Given the description of an element on the screen output the (x, y) to click on. 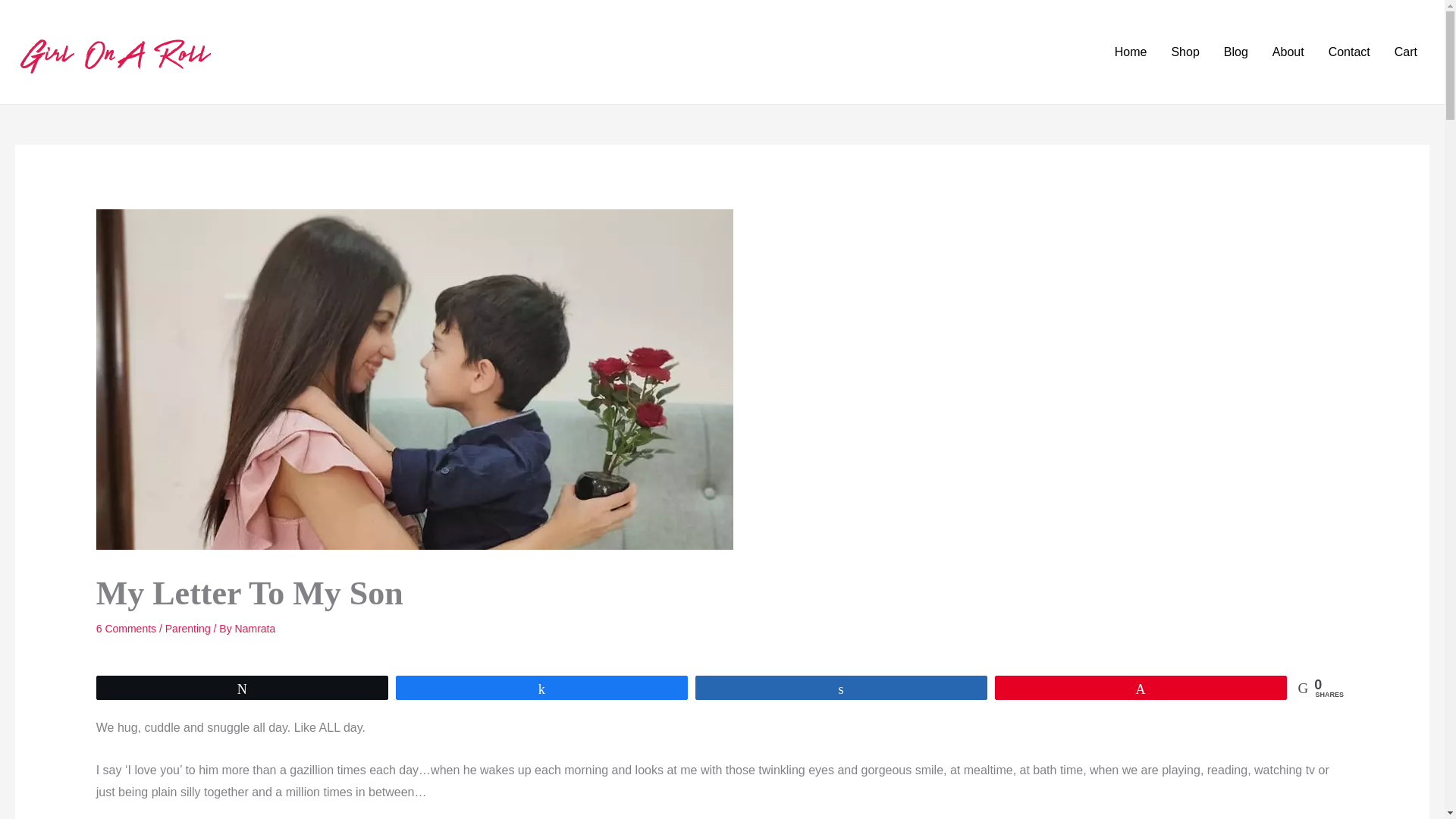
Parenting (188, 628)
6 Comments (125, 628)
Blog (1235, 51)
View all posts by Namrata (255, 628)
About (1288, 51)
Cart (1405, 51)
Home (1130, 51)
Shop (1184, 51)
Contact (1348, 51)
Namrata (255, 628)
